Given the description of an element on the screen output the (x, y) to click on. 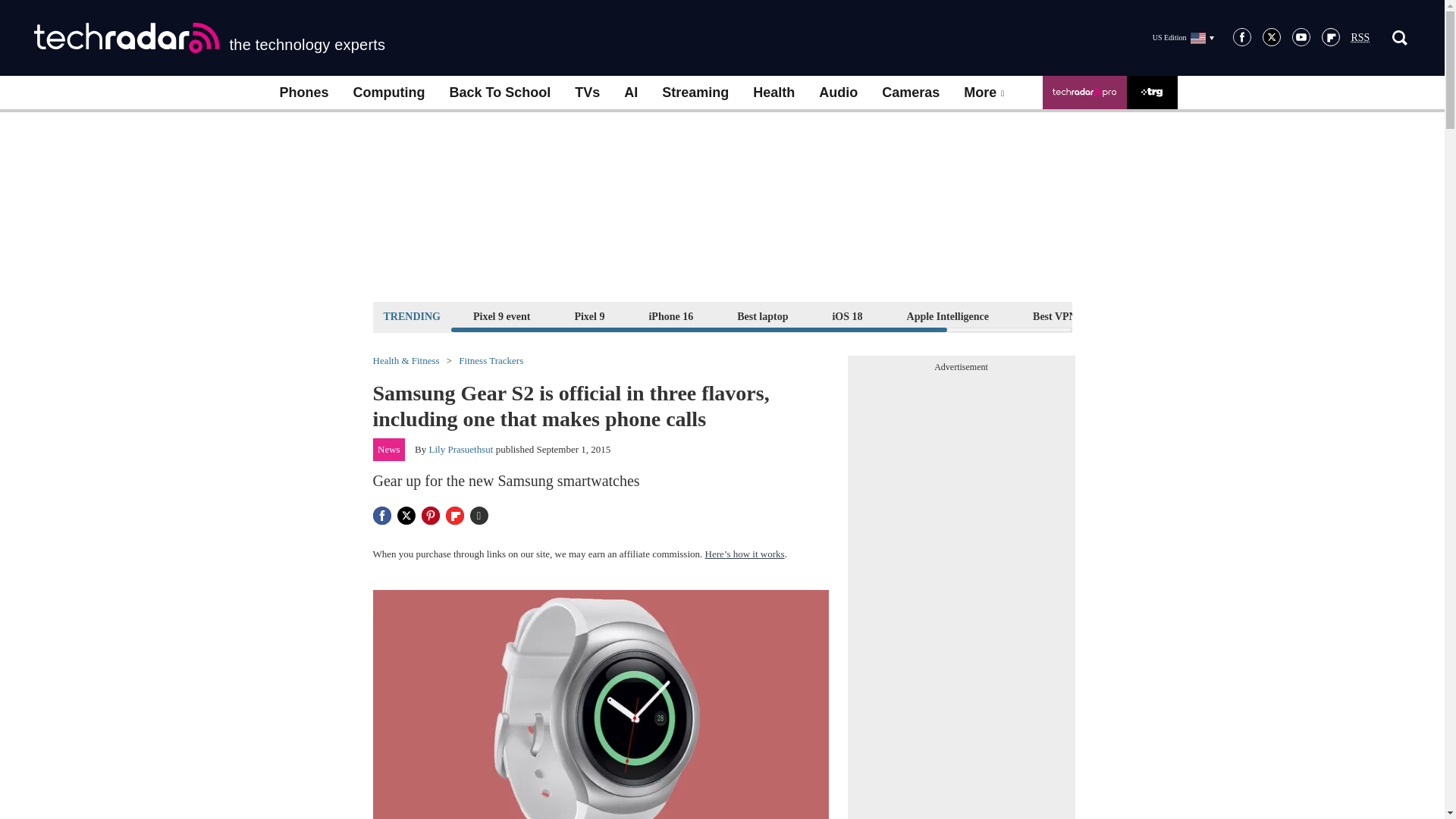
US Edition (1182, 37)
Audio (837, 92)
Streaming (695, 92)
Computing (389, 92)
TVs (586, 92)
the technology experts (209, 38)
Phones (303, 92)
Back To School (499, 92)
Really Simple Syndication (1360, 37)
AI (630, 92)
